Given the description of an element on the screen output the (x, y) to click on. 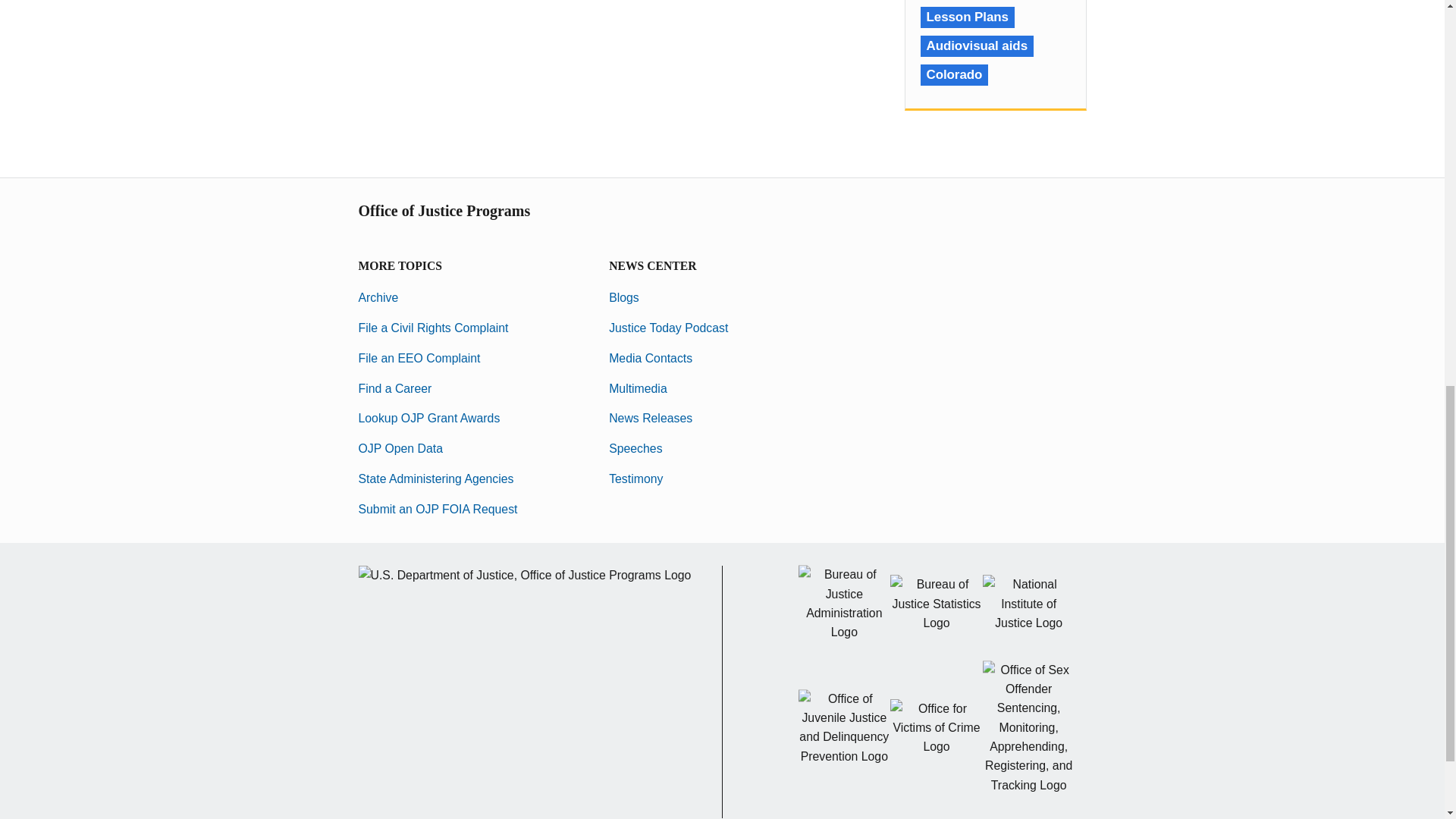
Archive (377, 297)
Audiovisual aids (976, 46)
Lesson Plans (967, 16)
Colorado (954, 74)
File an EEO Complaint (419, 358)
File a Civil Rights Complaint (433, 327)
